Given the description of an element on the screen output the (x, y) to click on. 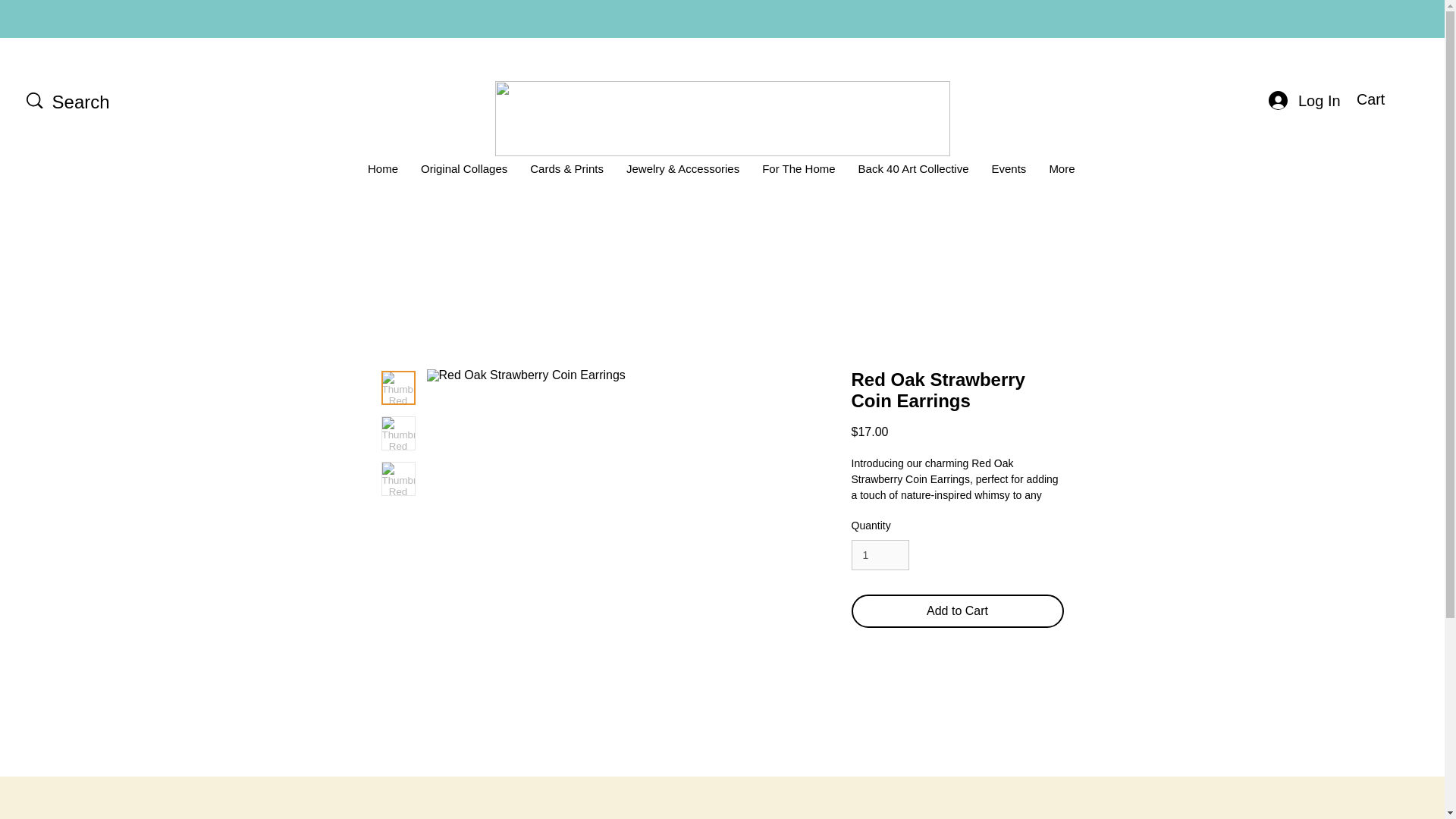
For The Home (798, 172)
Back 40 Art Collective (913, 172)
1 (879, 554)
Original Collages (463, 172)
Home (382, 172)
Log In (1303, 100)
Cart (1382, 99)
Events (1008, 172)
Cart (1382, 99)
Add to Cart (956, 611)
